Given the description of an element on the screen output the (x, y) to click on. 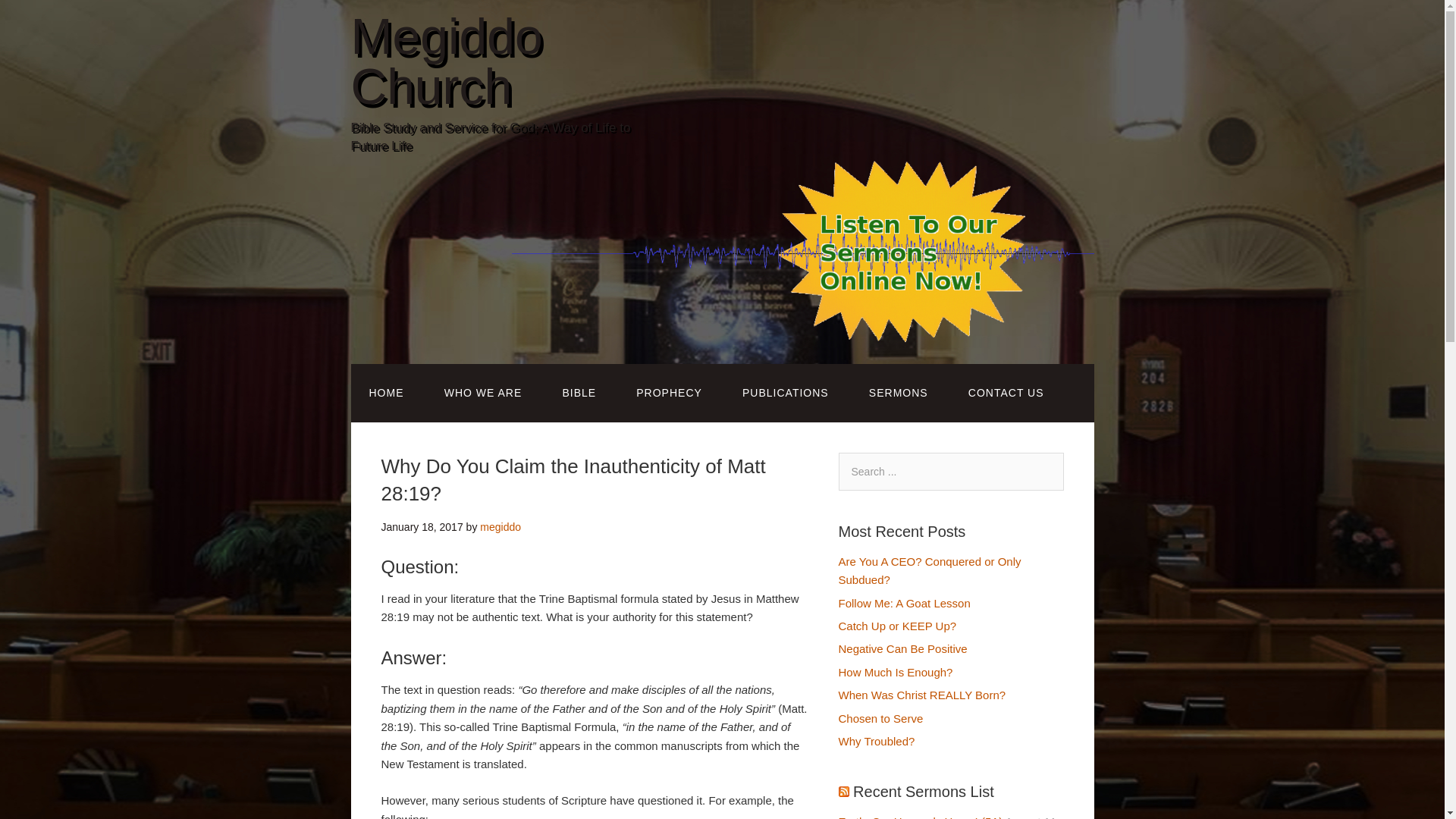
Negative Can Be Positive (903, 648)
Megiddo Church (445, 61)
SERMONS (898, 392)
megiddo (500, 526)
How Much Is Enough? (895, 671)
Follow Me: A Goat Lesson (904, 603)
HOME (386, 392)
Megiddo Church (445, 61)
Catch Up or KEEP Up? (897, 625)
WHO WE ARE (483, 392)
